Given the description of an element on the screen output the (x, y) to click on. 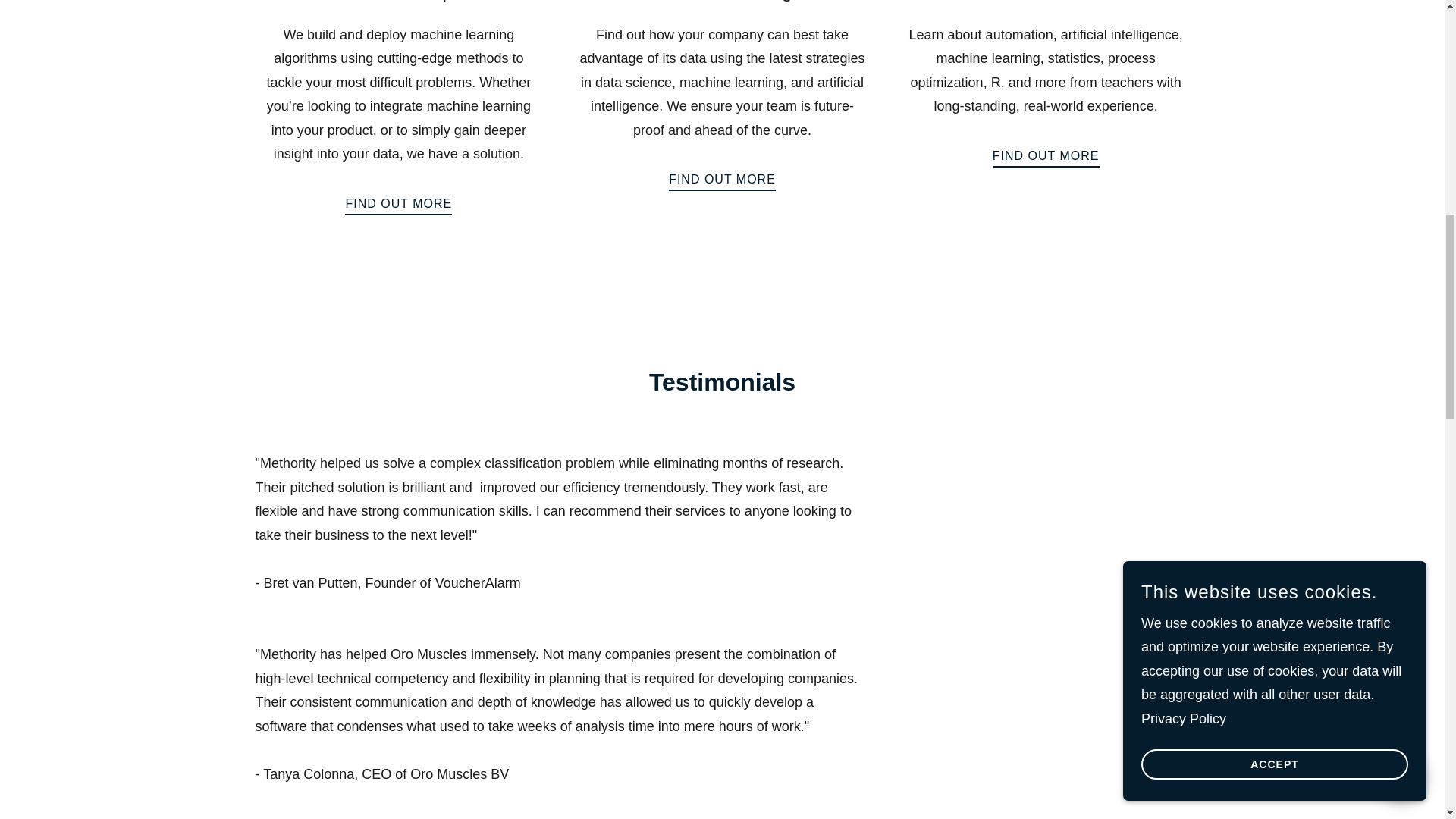
FIND OUT MORE (722, 175)
FIND OUT MORE (1045, 152)
FIND OUT MORE (398, 200)
